Given the description of an element on the screen output the (x, y) to click on. 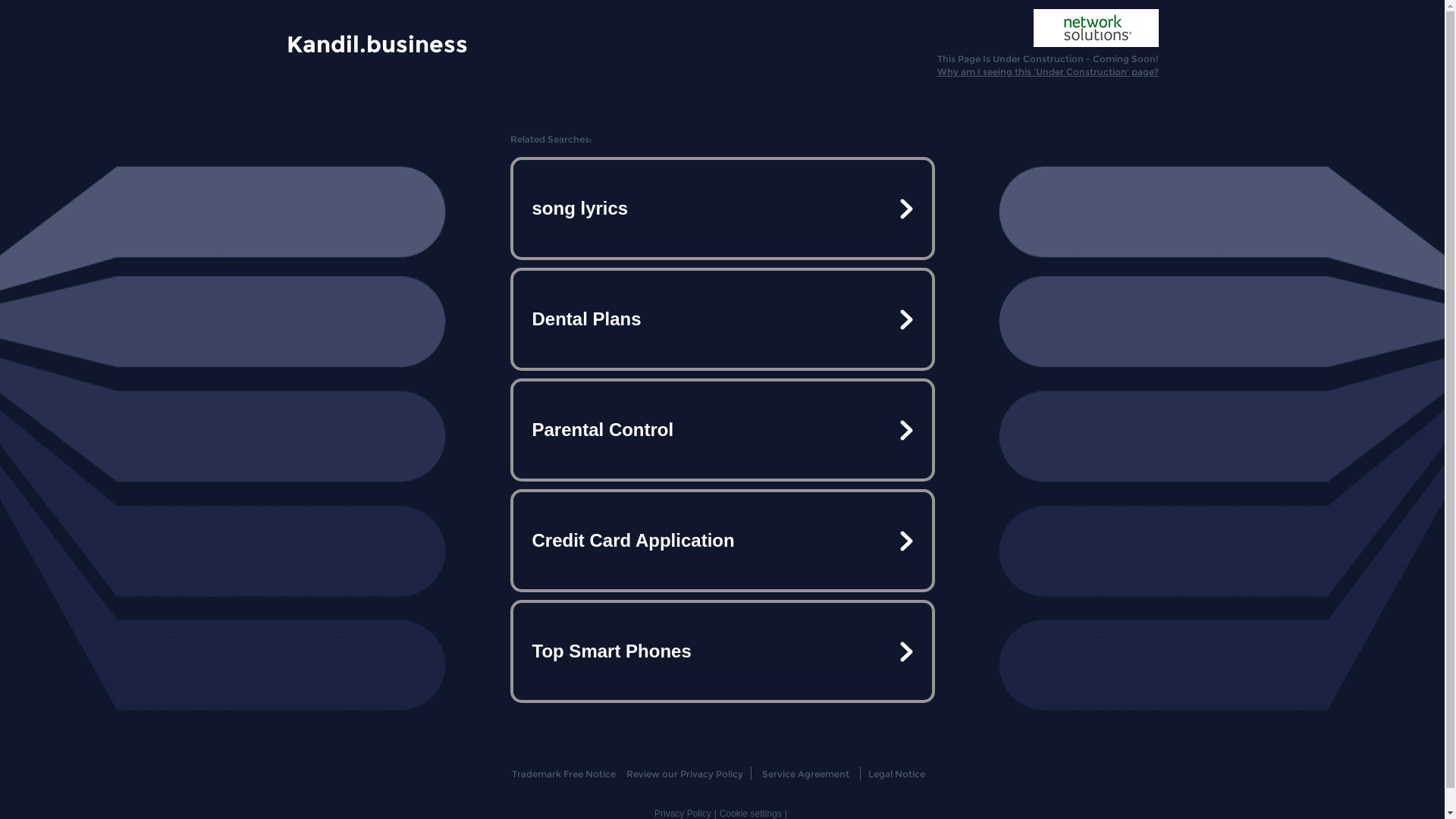
Trademark Free Notice Element type: text (563, 773)
Parental Control Element type: text (721, 429)
Service Agreement Element type: text (805, 773)
Credit Card Application Element type: text (721, 540)
Why am I seeing this 'Under Construction' page? Element type: text (1047, 71)
Review our Privacy Policy Element type: text (684, 773)
Legal Notice Element type: text (896, 773)
Dental Plans Element type: text (721, 318)
Kandil.business Element type: text (376, 43)
Top Smart Phones Element type: text (721, 650)
song lyrics Element type: text (721, 208)
